Given the description of an element on the screen output the (x, y) to click on. 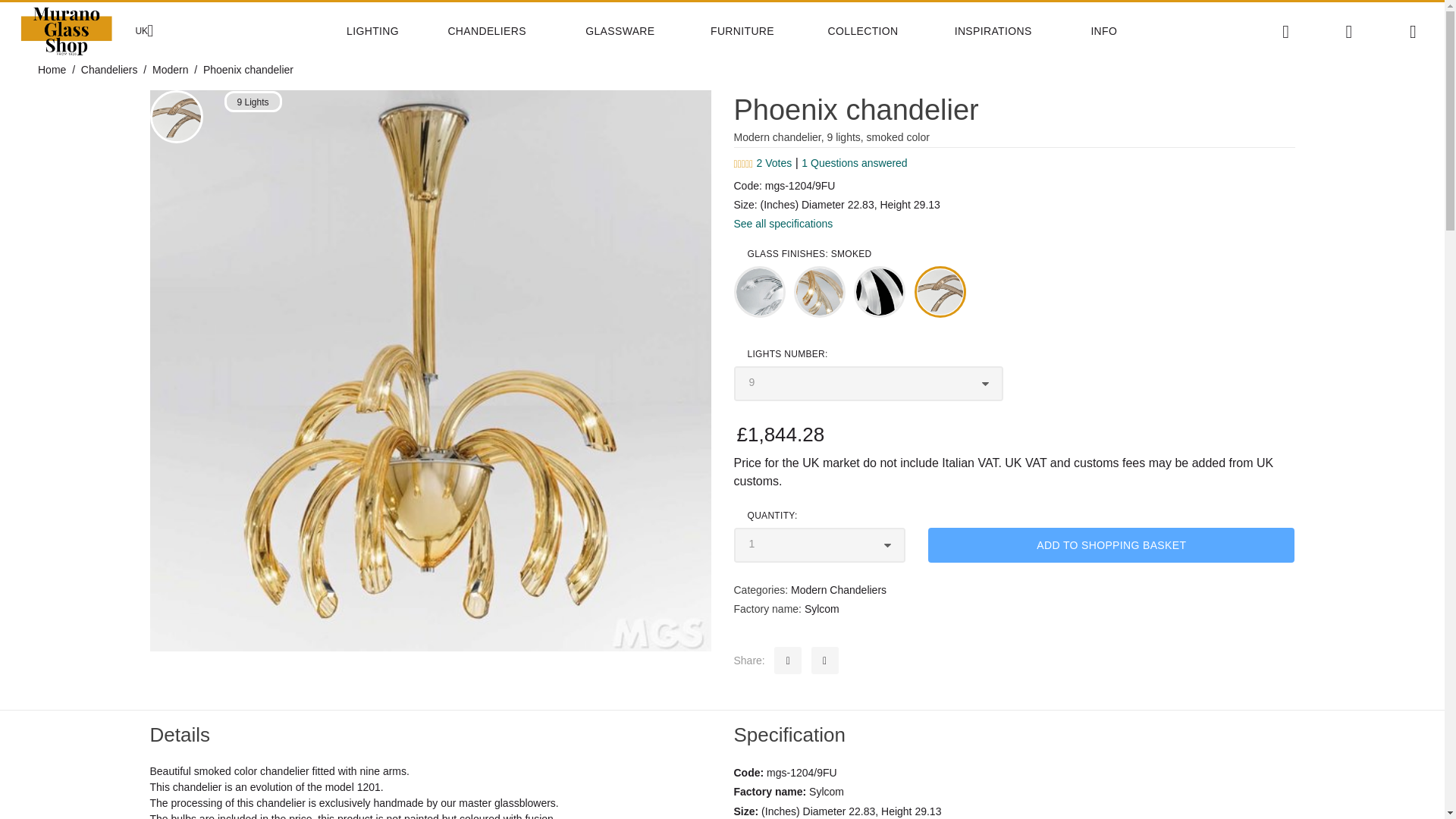
Glass finishes: Milk white (879, 291)
Glass finishes: Smoked (940, 291)
Glass finishes: Amber (819, 291)
GLASSWARE (637, 31)
CHANDELIERS (506, 31)
Glass finishes: Smoked (176, 116)
FURNITURE (759, 31)
LIGHTING (387, 31)
Glass finishes: Crystal (759, 291)
